Given the description of an element on the screen output the (x, y) to click on. 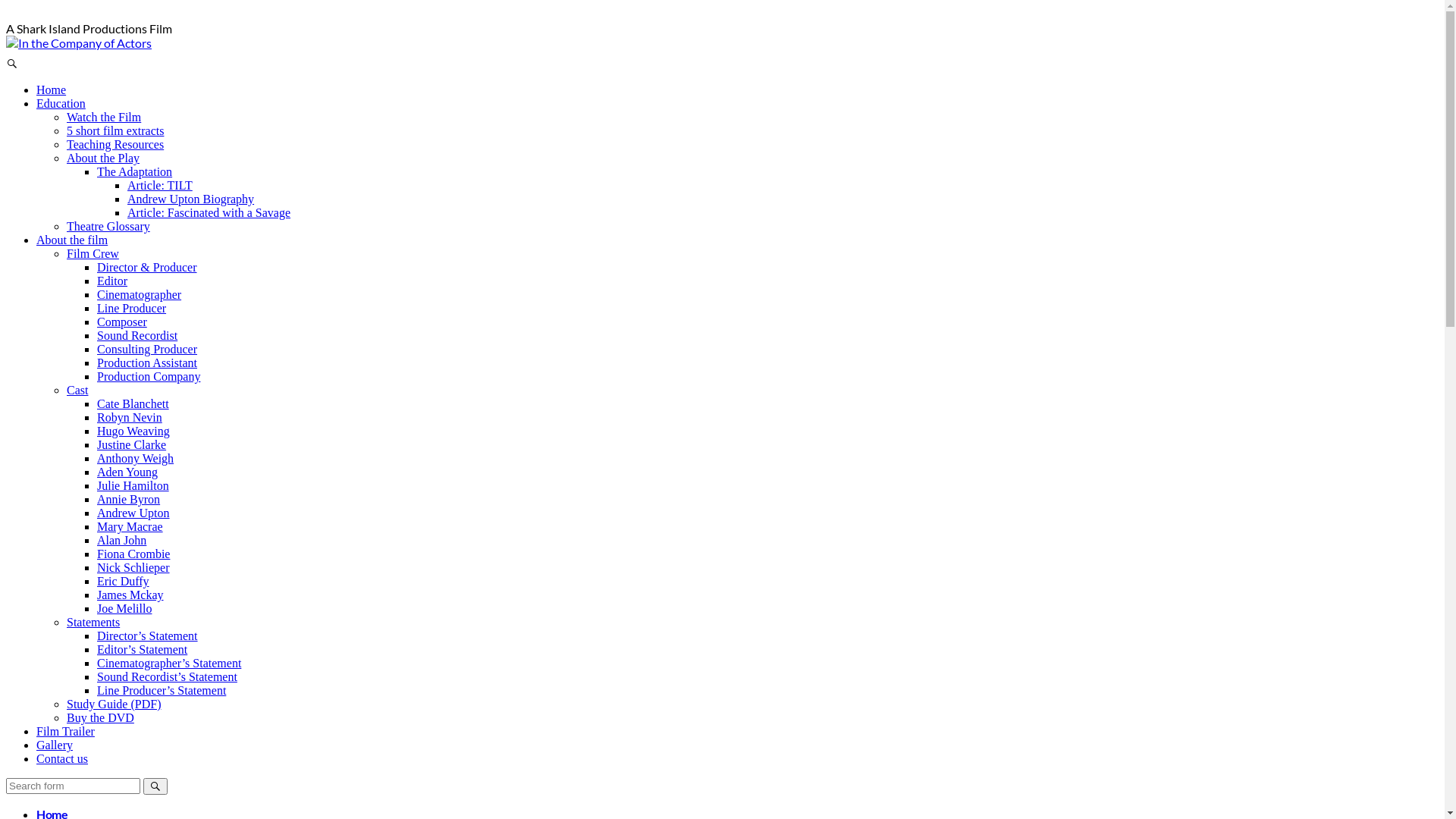
Study Guide (PDF) Element type: text (113, 703)
Sound Recordist Element type: text (137, 335)
Aden Young Element type: text (127, 471)
Theatre Glossary Element type: text (108, 225)
Anthony Weigh Element type: text (135, 457)
Article: Fascinated with a Savage Element type: text (208, 212)
Gallery Element type: text (54, 744)
Teaching Resources Element type: text (114, 144)
Education Element type: text (60, 103)
About the film Element type: text (71, 239)
Editor Element type: text (112, 280)
Joe Melillo Element type: text (124, 608)
Alan John Element type: text (121, 539)
Hugo Weaving Element type: text (133, 430)
Film Crew Element type: text (92, 253)
Julie Hamilton Element type: text (133, 485)
Cinematographer Element type: text (139, 294)
Contact us Element type: text (61, 758)
Nick Schlieper Element type: text (133, 567)
Production Assistant Element type: text (147, 362)
Home Element type: text (50, 89)
Production Company Element type: text (148, 376)
Annie Byron Element type: text (128, 498)
Andrew Upton Element type: text (133, 512)
Fiona Crombie Element type: text (133, 553)
Robyn Nevin Element type: text (129, 417)
The Adaptation Element type: text (134, 171)
Cast Element type: text (76, 389)
Film Trailer Element type: text (65, 730)
5 short film extracts Element type: text (114, 130)
Mary Macrae Element type: text (130, 526)
Article: TILT Element type: text (159, 184)
Cate Blanchett Element type: text (133, 403)
Search Element type: text (155, 786)
Eric Duffy Element type: text (123, 580)
Line Producer Element type: text (131, 307)
James Mckay Element type: text (130, 594)
Watch the Film Element type: text (103, 116)
Composer Element type: text (122, 321)
Justine Clarke Element type: text (131, 444)
Buy the DVD Element type: text (100, 717)
About the Play Element type: text (102, 157)
Andrew Upton Biography Element type: text (190, 198)
Consulting Producer Element type: text (147, 348)
Director & Producer Element type: text (147, 266)
Statements Element type: text (92, 621)
